Given the description of an element on the screen output the (x, y) to click on. 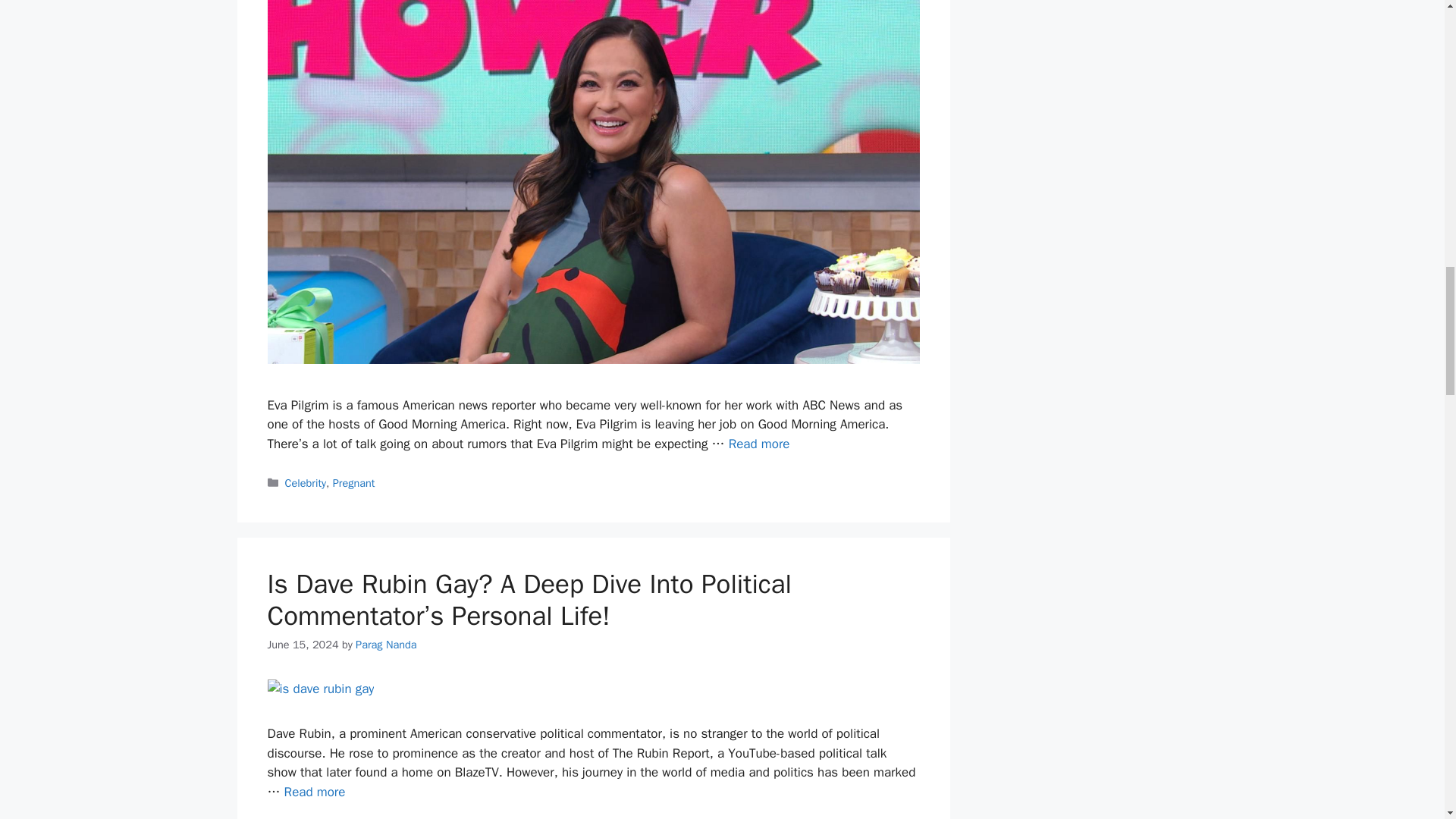
Parag Nanda (385, 644)
Read more (759, 443)
Read more (314, 791)
View all posts by Parag Nanda (385, 644)
Pregnant (354, 482)
Celebrity (305, 482)
